Given the description of an element on the screen output the (x, y) to click on. 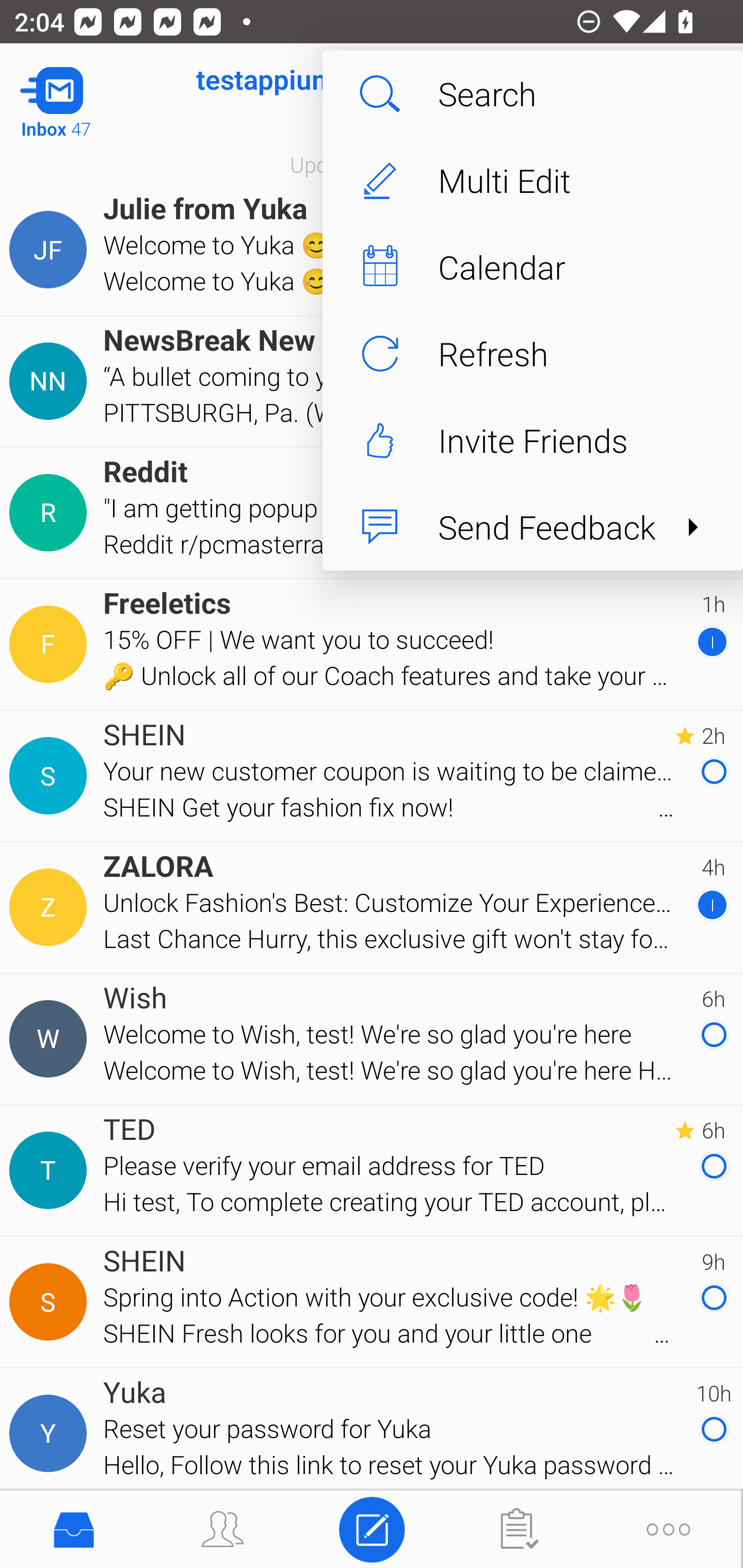
Search (532, 93)
Multi Edit (532, 180)
Calendar (532, 267)
Refresh (532, 353)
Invite Friends (532, 440)
Send Feedback (532, 527)
